Given the description of an element on the screen output the (x, y) to click on. 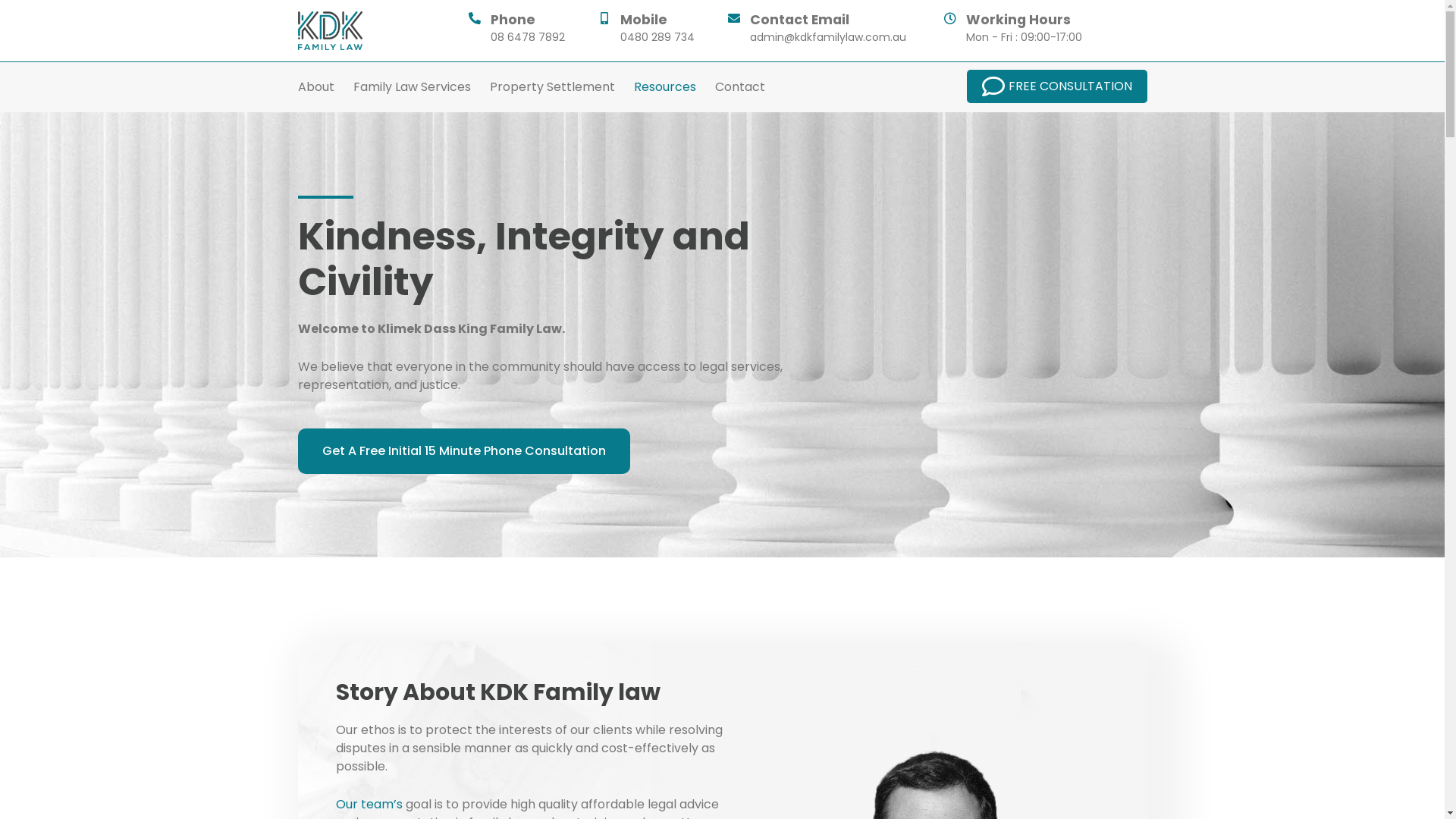
FREE CONSULTATION Element type: text (1056, 86)
Property Settlement Element type: text (555, 86)
Resources Element type: text (668, 86)
About Element type: text (319, 86)
Get A Free Initial 15 Minute Phone Consultation Element type: text (463, 450)
Mobile Element type: text (643, 19)
Phone Element type: text (511, 19)
Working Hours Element type: text (1018, 19)
Contact Email Element type: text (798, 19)
Family Law Services Element type: text (415, 86)
Contact Element type: text (739, 86)
